Given the description of an element on the screen output the (x, y) to click on. 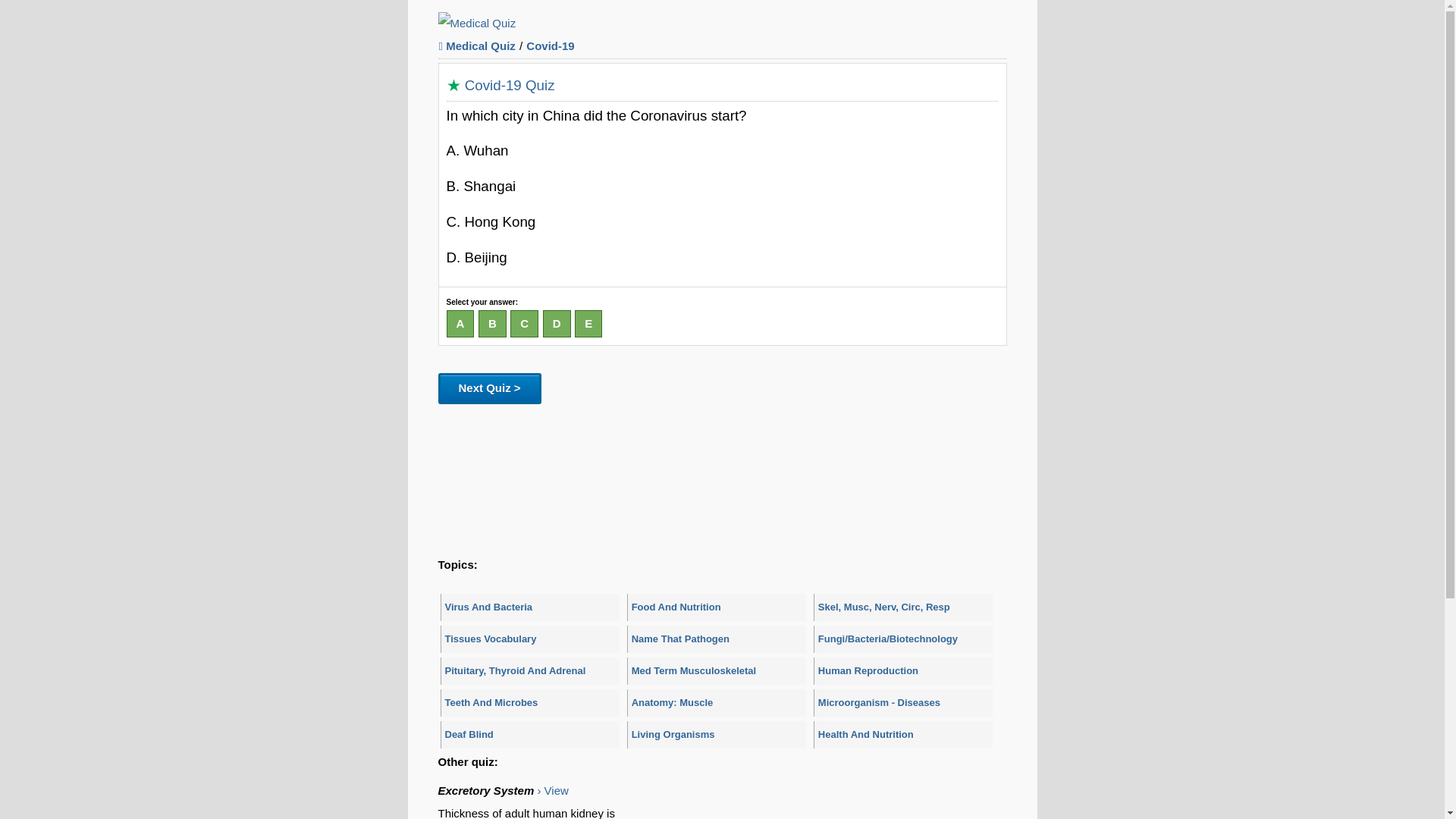
a (459, 324)
c (524, 324)
Medical Quiz (477, 22)
Health And Nutrition (902, 734)
a (459, 324)
Med Term Musculoskeletal (716, 670)
Food And Nutrition (716, 606)
Virus And Bacteria (528, 606)
c (524, 324)
Skel, Musc, Nerv, Circ, Resp (902, 606)
